Given the description of an element on the screen output the (x, y) to click on. 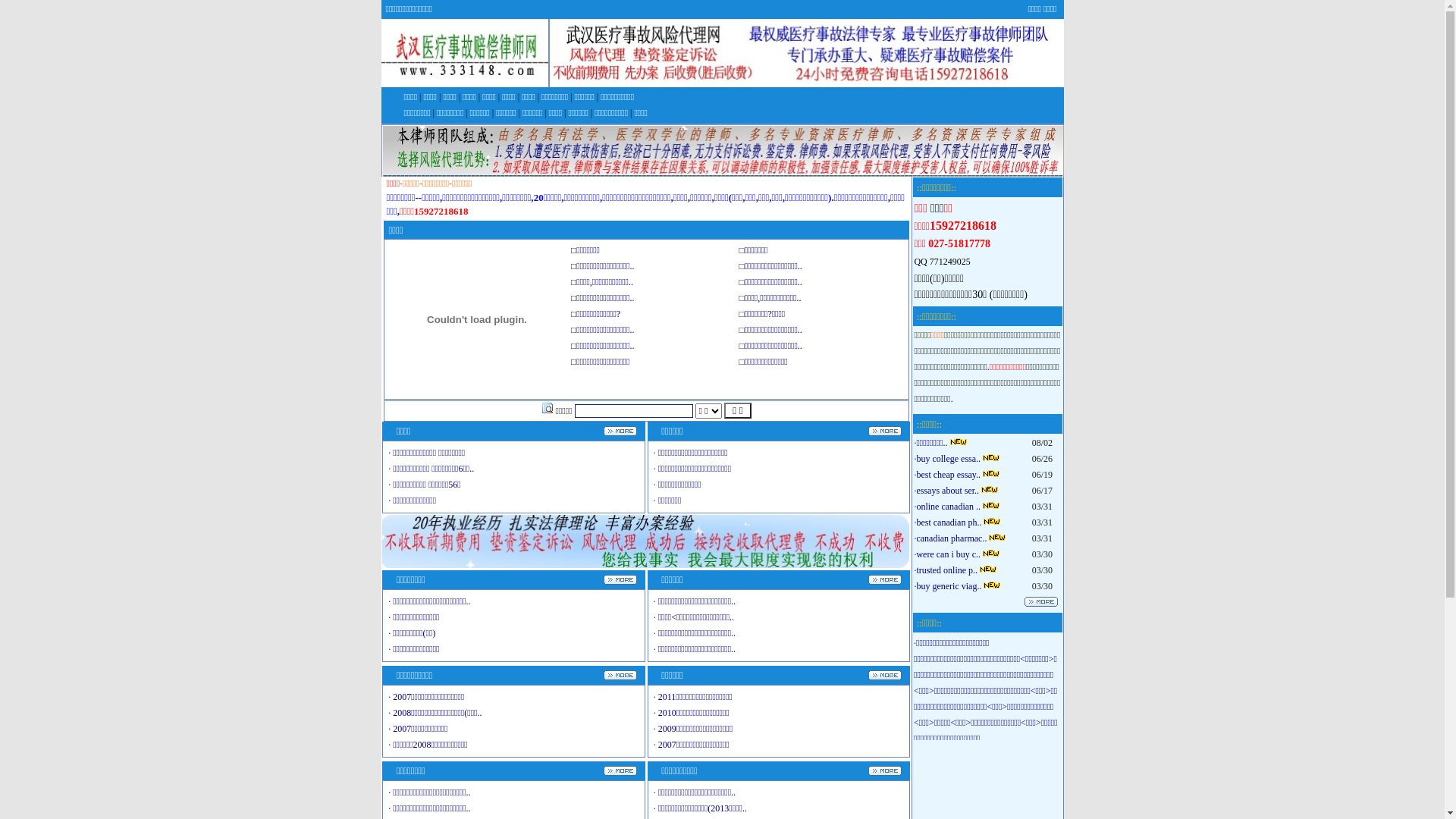
canadian pharmac.. Element type: text (951, 538)
best cheap essay.. Element type: text (948, 474)
online canadian .. Element type: text (948, 506)
trusted online p.. Element type: text (946, 569)
best canadian ph.. Element type: text (948, 522)
buy generic viag.. Element type: text (948, 585)
essays about ser.. Element type: text (947, 490)
buy college essa.. Element type: text (948, 458)
were can i buy c.. Element type: text (948, 554)
